Given the description of an element on the screen output the (x, y) to click on. 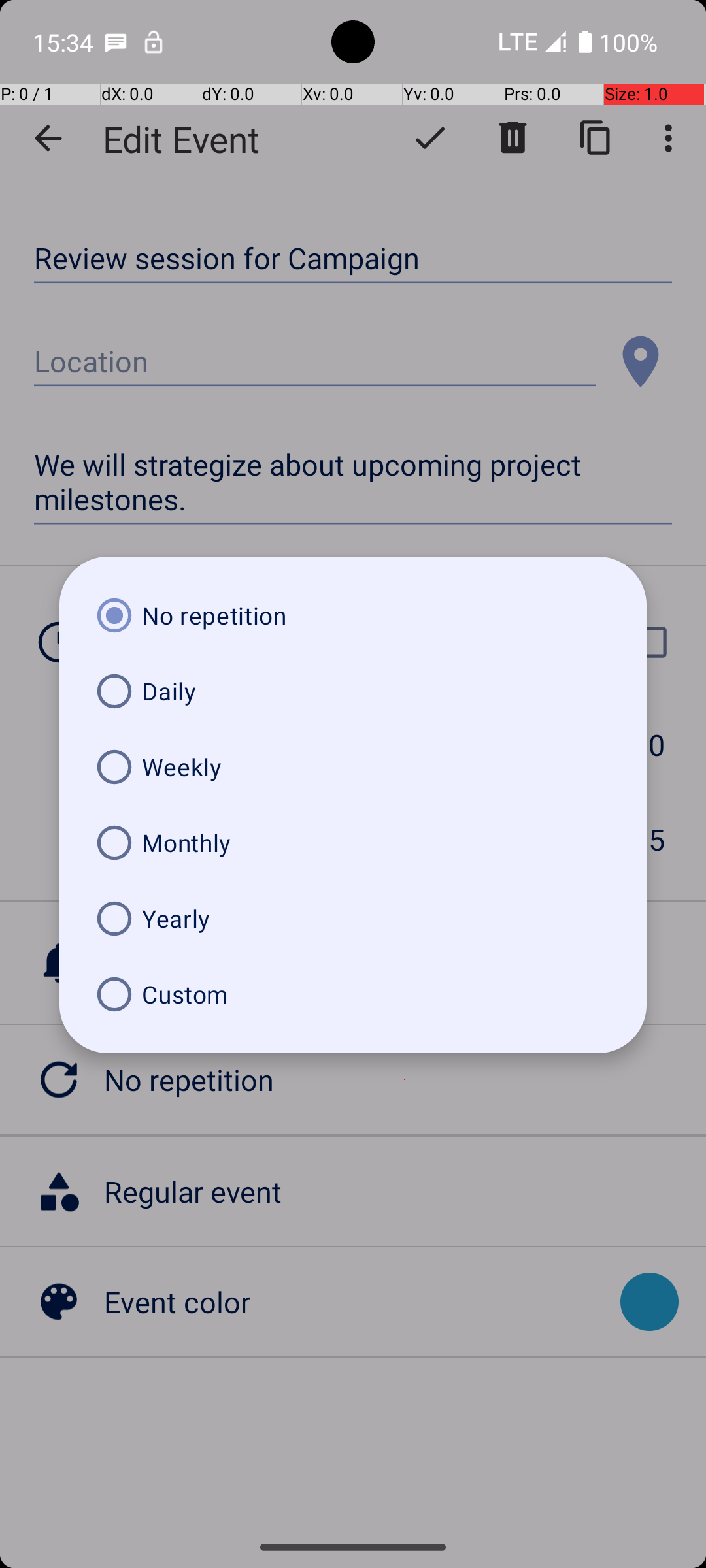
Daily Element type: android.widget.RadioButton (352, 691)
Weekly Element type: android.widget.RadioButton (352, 766)
Monthly Element type: android.widget.RadioButton (352, 842)
Yearly Element type: android.widget.RadioButton (352, 918)
Custom Element type: android.widget.RadioButton (352, 994)
